Given the description of an element on the screen output the (x, y) to click on. 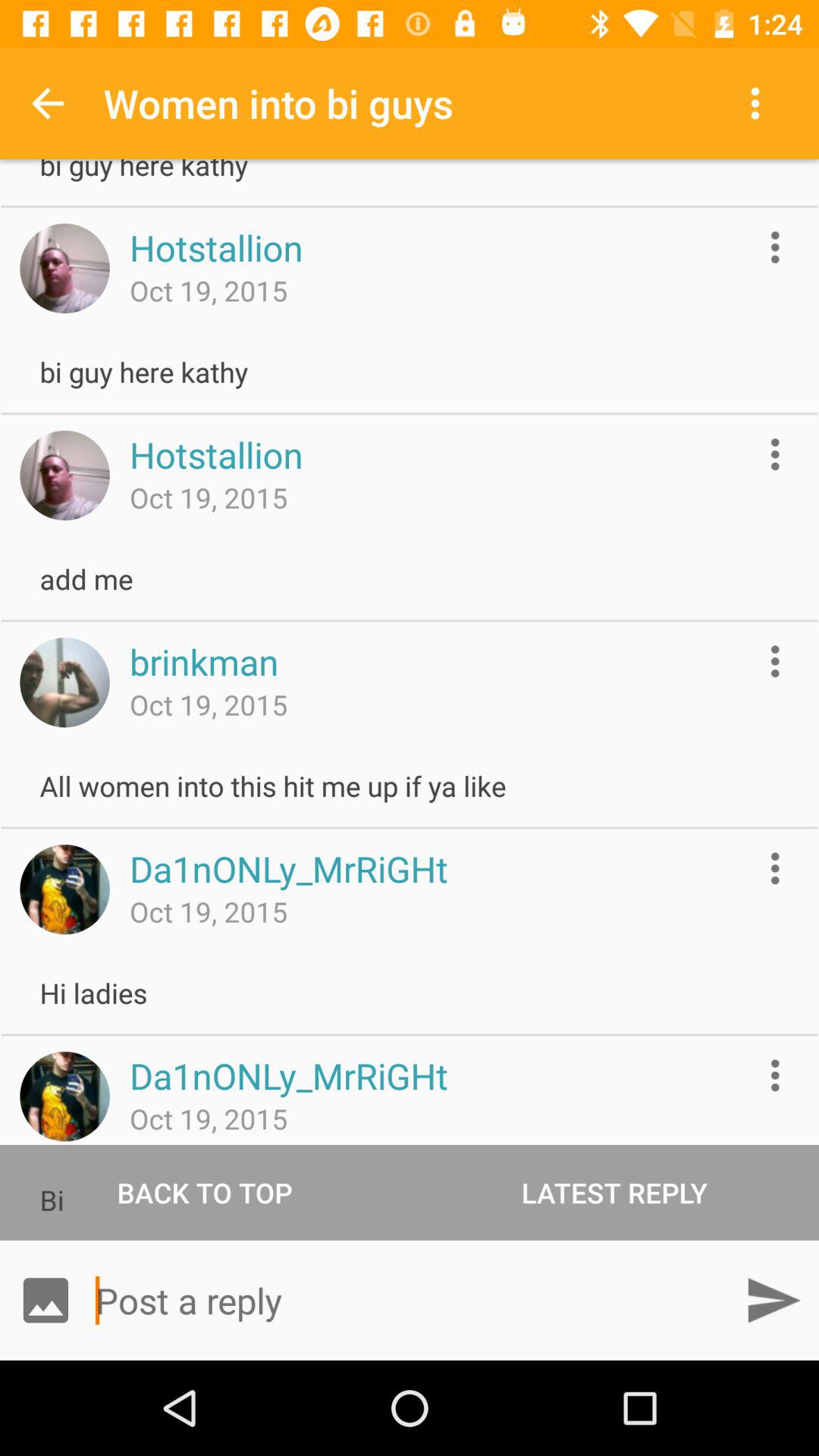
open item next to the women into bi icon (47, 103)
